Given the description of an element on the screen output the (x, y) to click on. 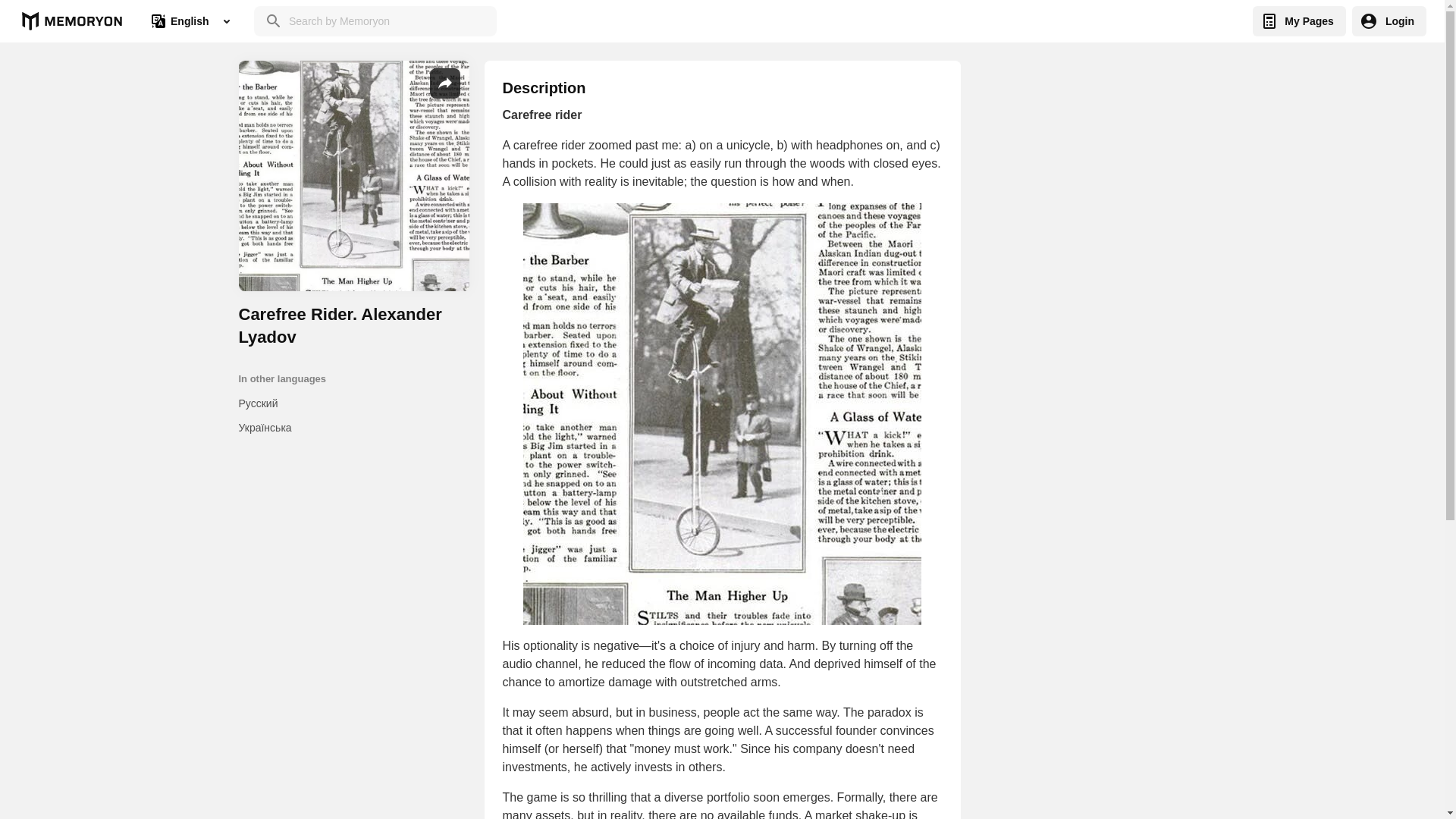
My Pages (1298, 20)
Login (1389, 20)
